Given the description of an element on the screen output the (x, y) to click on. 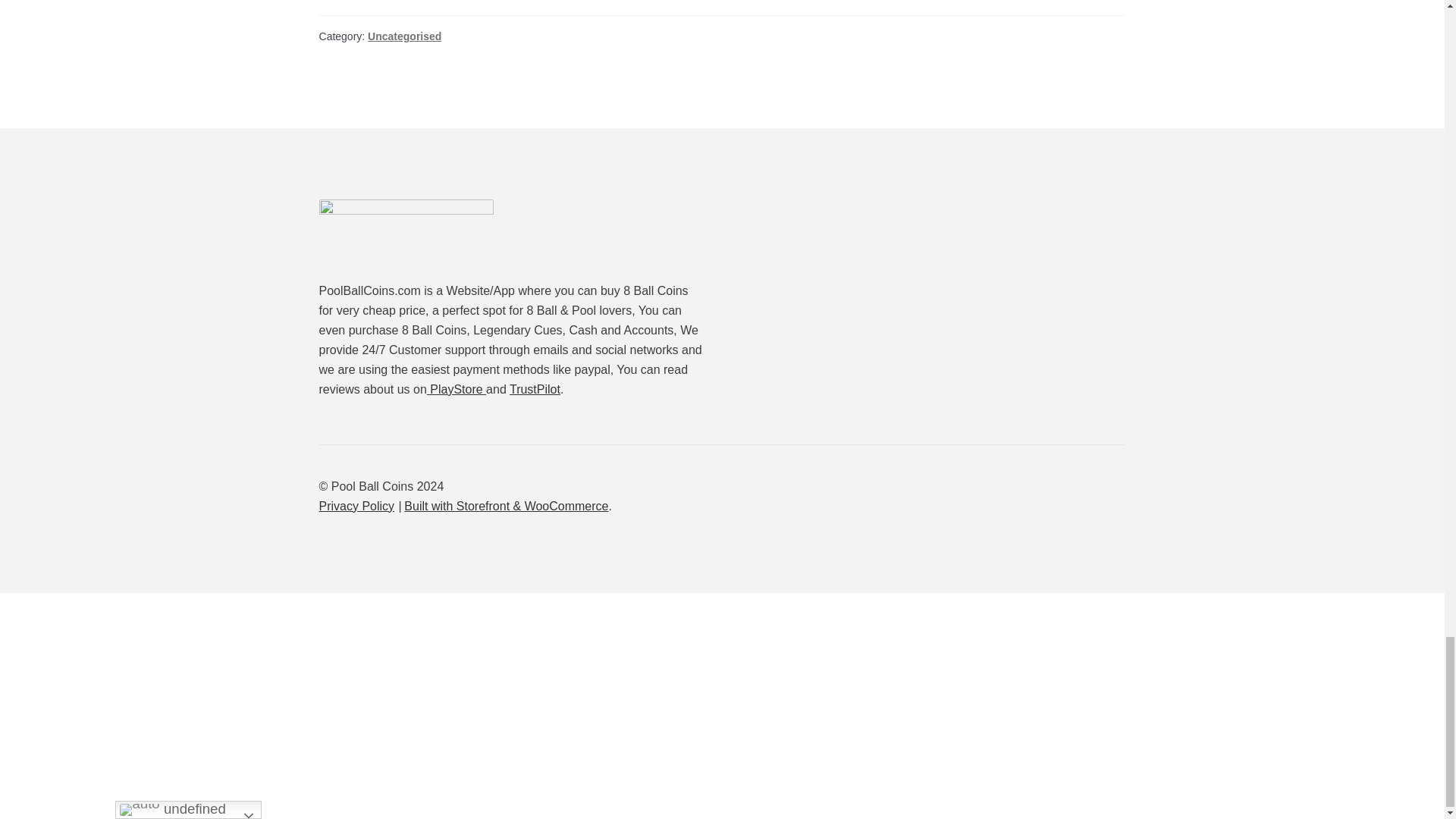
WooCommerce - The Best eCommerce Platform for WordPress (506, 505)
